Given the description of an element on the screen output the (x, y) to click on. 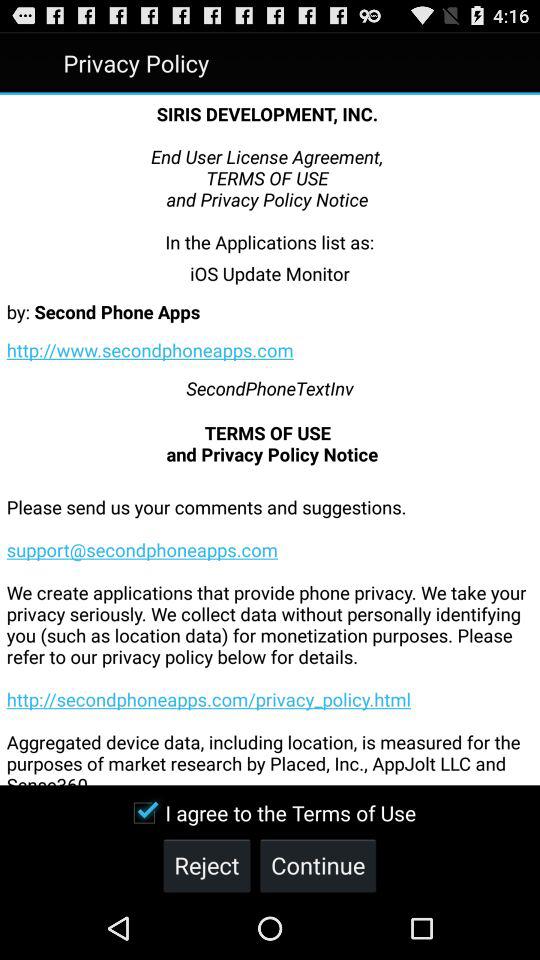
select reject icon (206, 864)
